Given the description of an element on the screen output the (x, y) to click on. 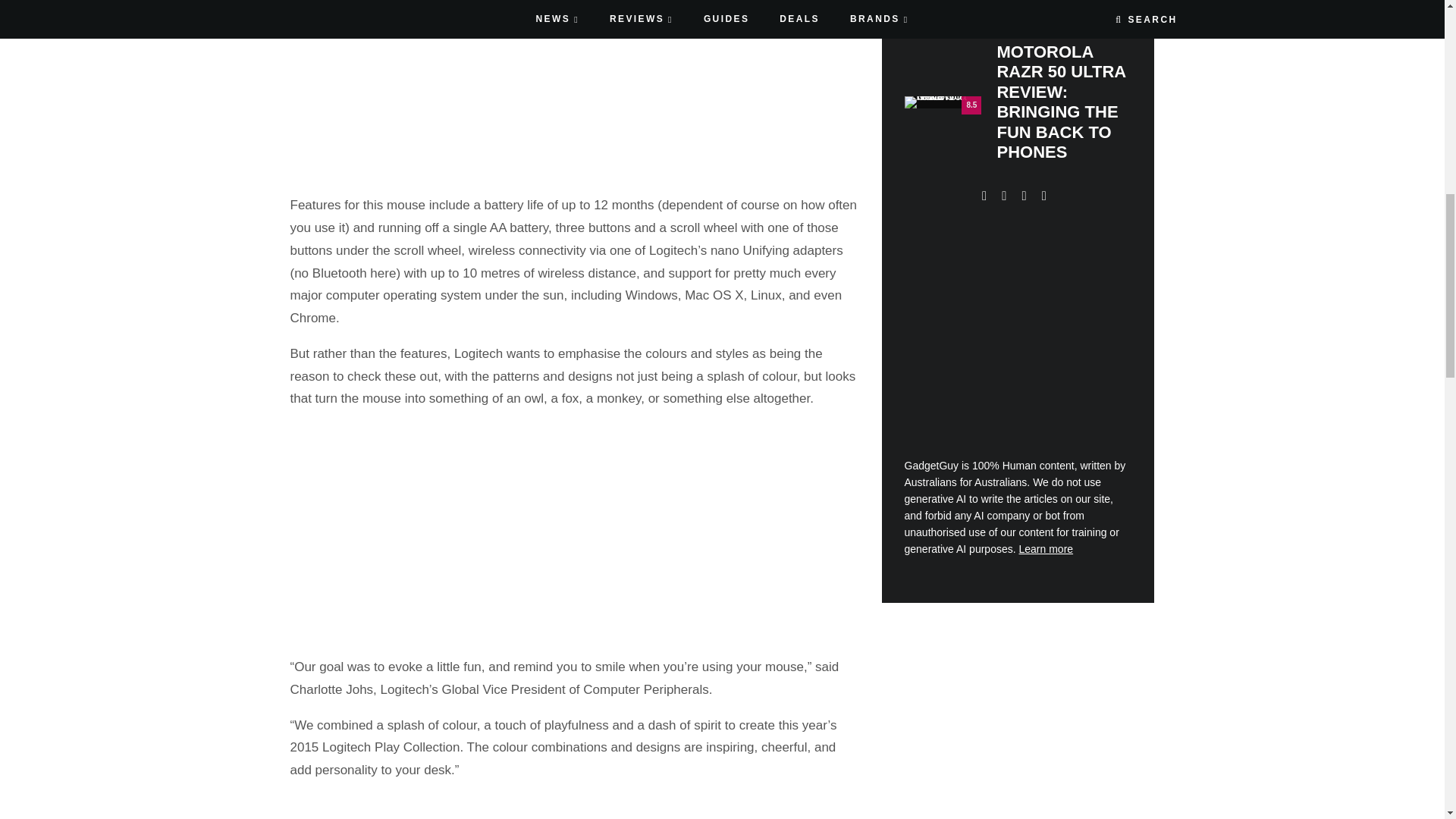
Motorola Razr 50 Ultra review (942, 102)
